Given the description of an element on the screen output the (x, y) to click on. 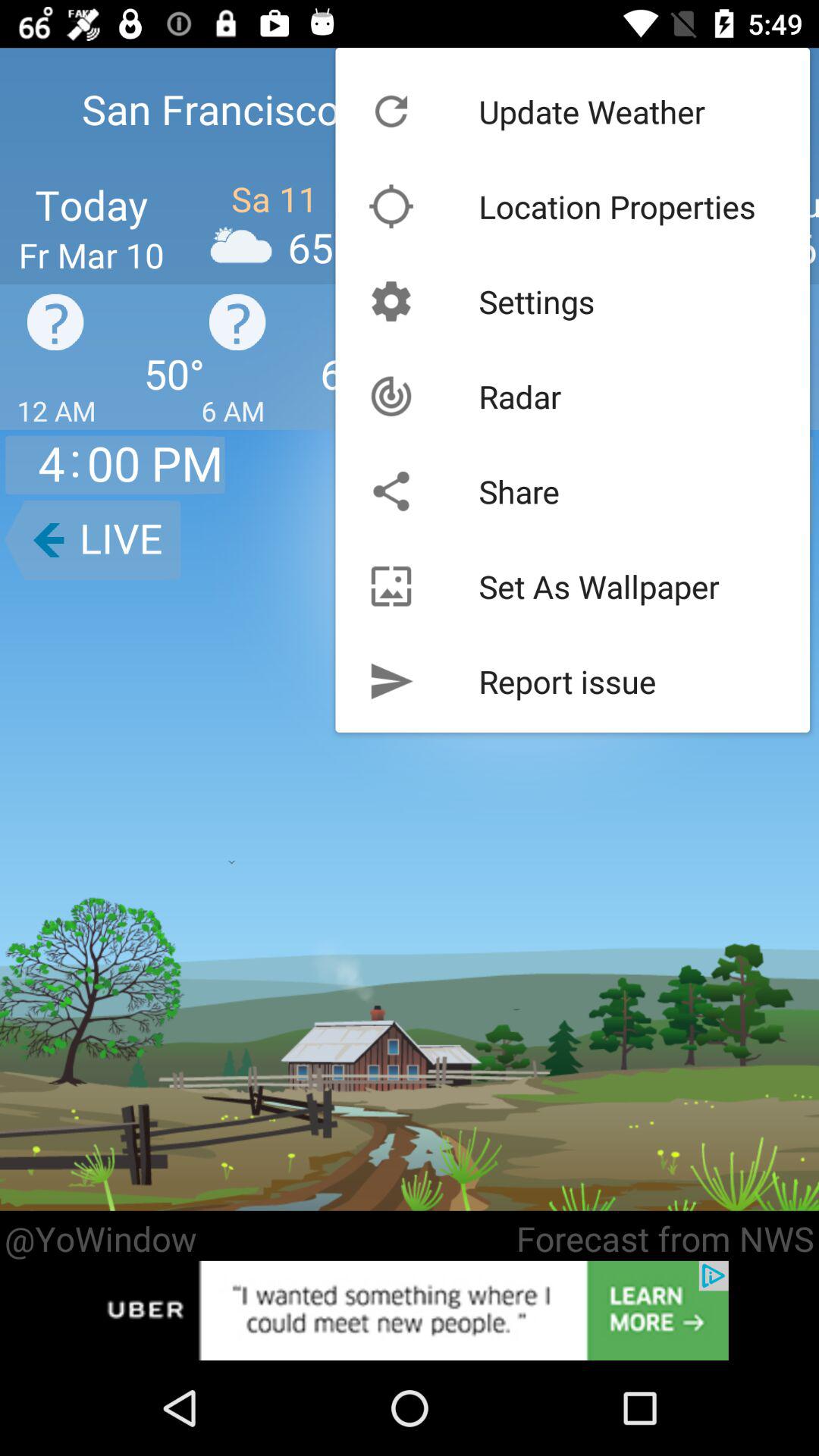
scroll to the report issue (567, 680)
